Given the description of an element on the screen output the (x, y) to click on. 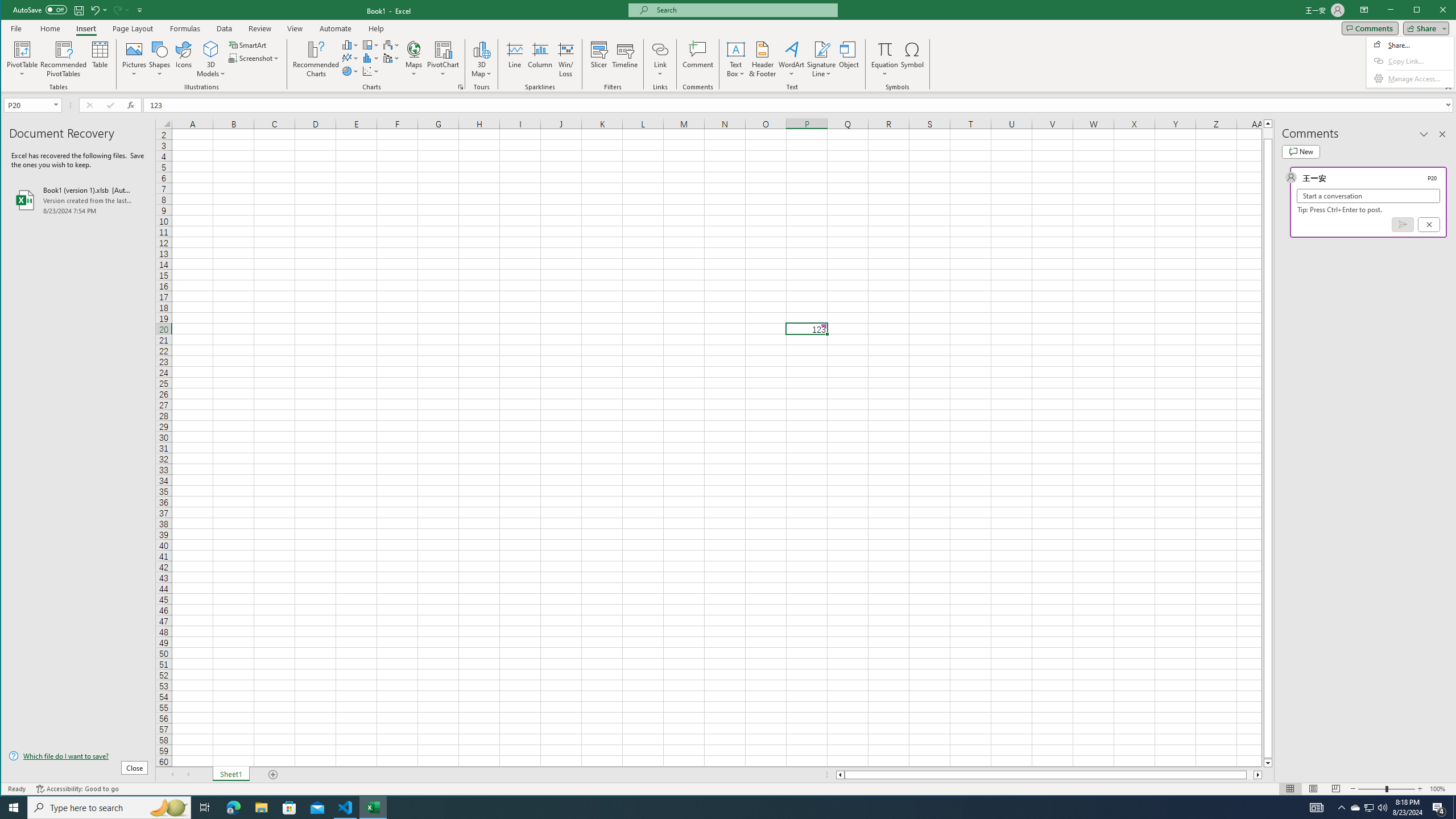
Signature Line (821, 59)
Slicer... (598, 59)
WordArt (791, 59)
Microsoft Edge (233, 807)
Notification Chevron (1368, 807)
Insert Waterfall, Funnel, Stock, Surface, or Radar Chart (1341, 807)
Maps (391, 44)
